Given the description of an element on the screen output the (x, y) to click on. 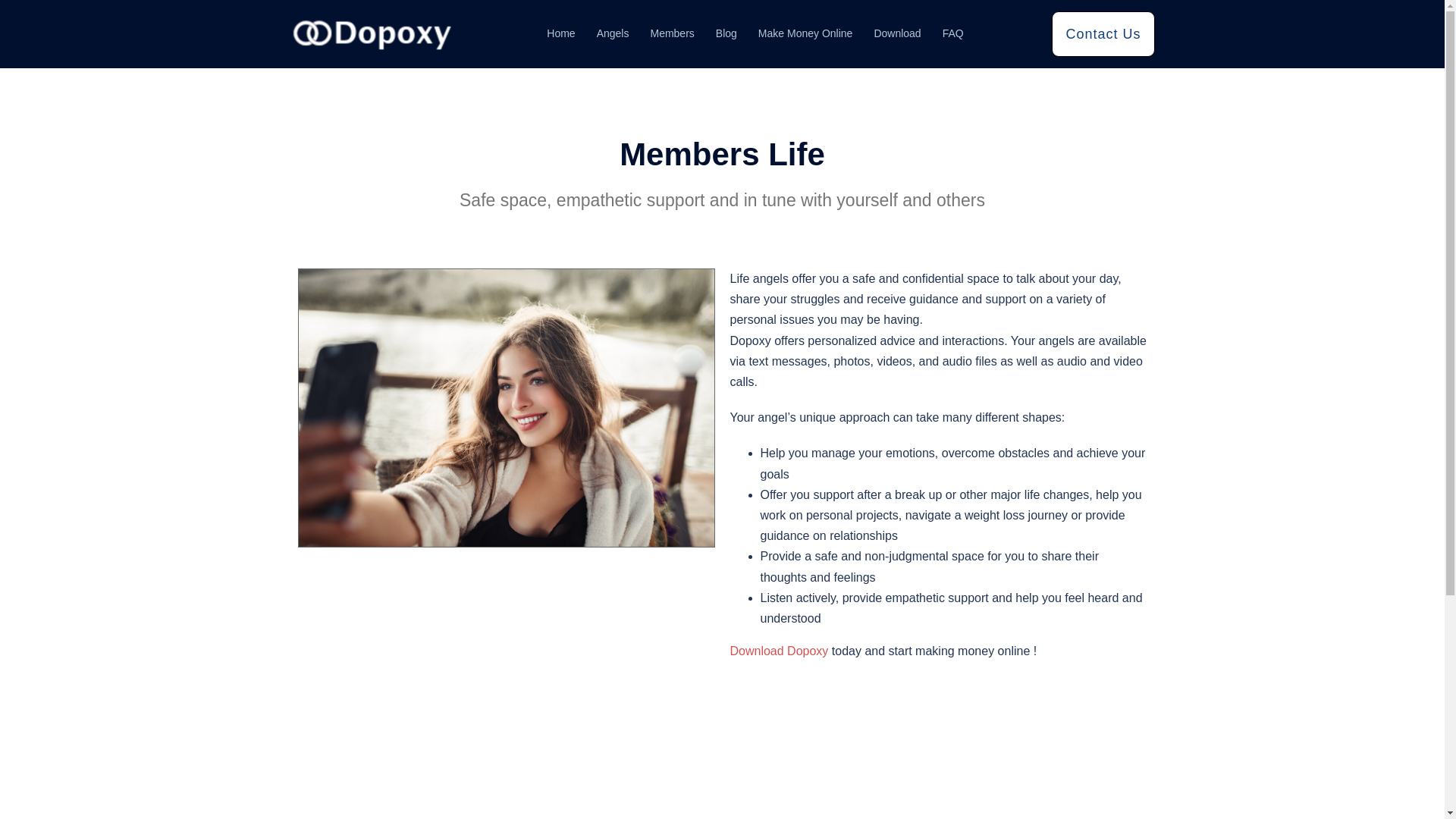
Download Dopoxy (778, 650)
Download (896, 34)
FAQ (952, 34)
Dopoxy (373, 32)
Home (561, 34)
Angels (612, 34)
Contact Us (1102, 33)
Blog (726, 34)
Members (671, 34)
Make Money Online (805, 34)
